Given the description of an element on the screen output the (x, y) to click on. 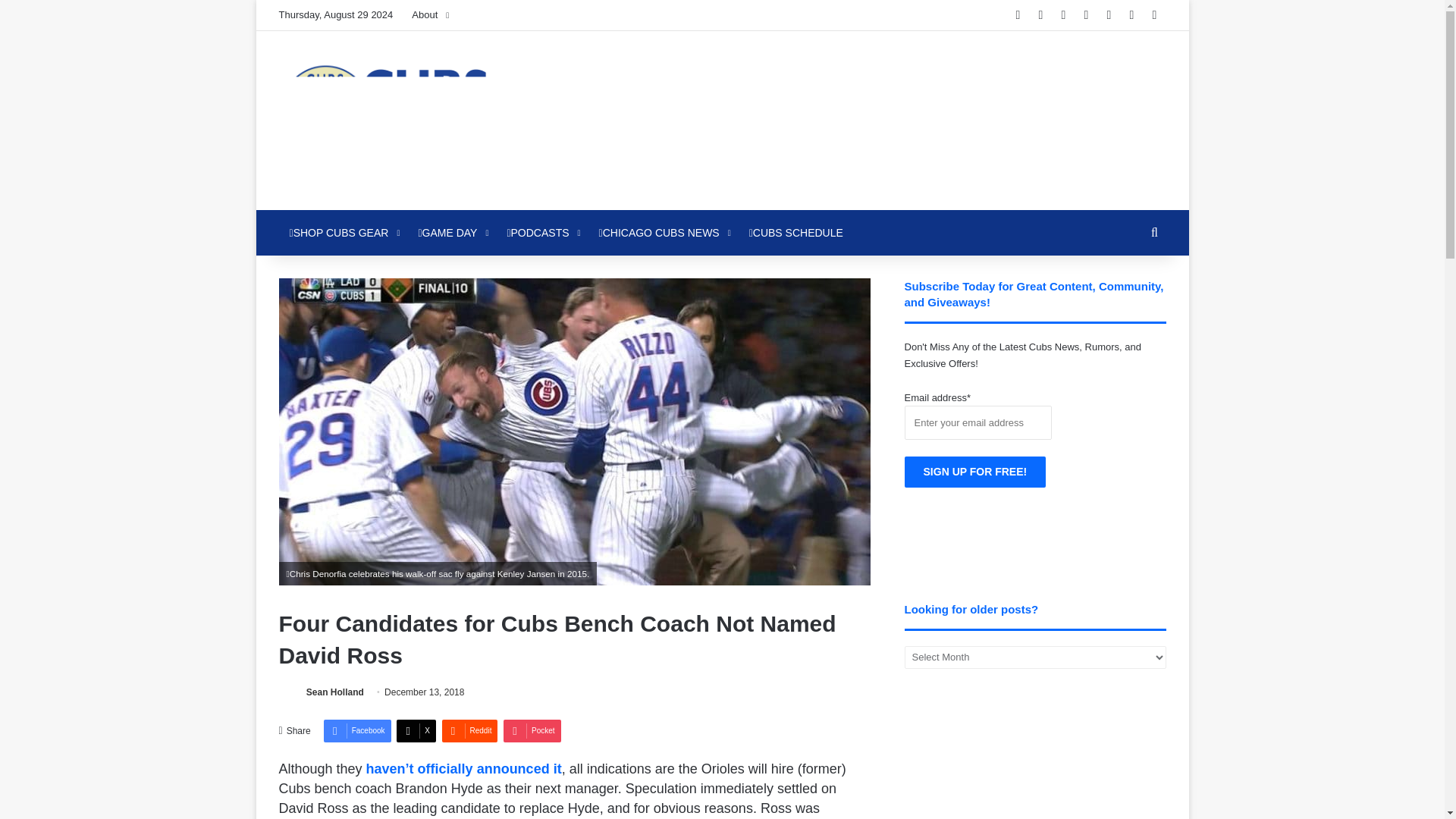
Pocket (531, 730)
SIGN UP FOR FREE! (975, 471)
Sean Holland (334, 692)
Reddit (469, 730)
X (415, 730)
Facebook (357, 730)
PODCASTS (542, 232)
CHICAGO CUBS NEWS (663, 232)
Cubs Insider (419, 120)
Sean Holland (334, 692)
